Given the description of an element on the screen output the (x, y) to click on. 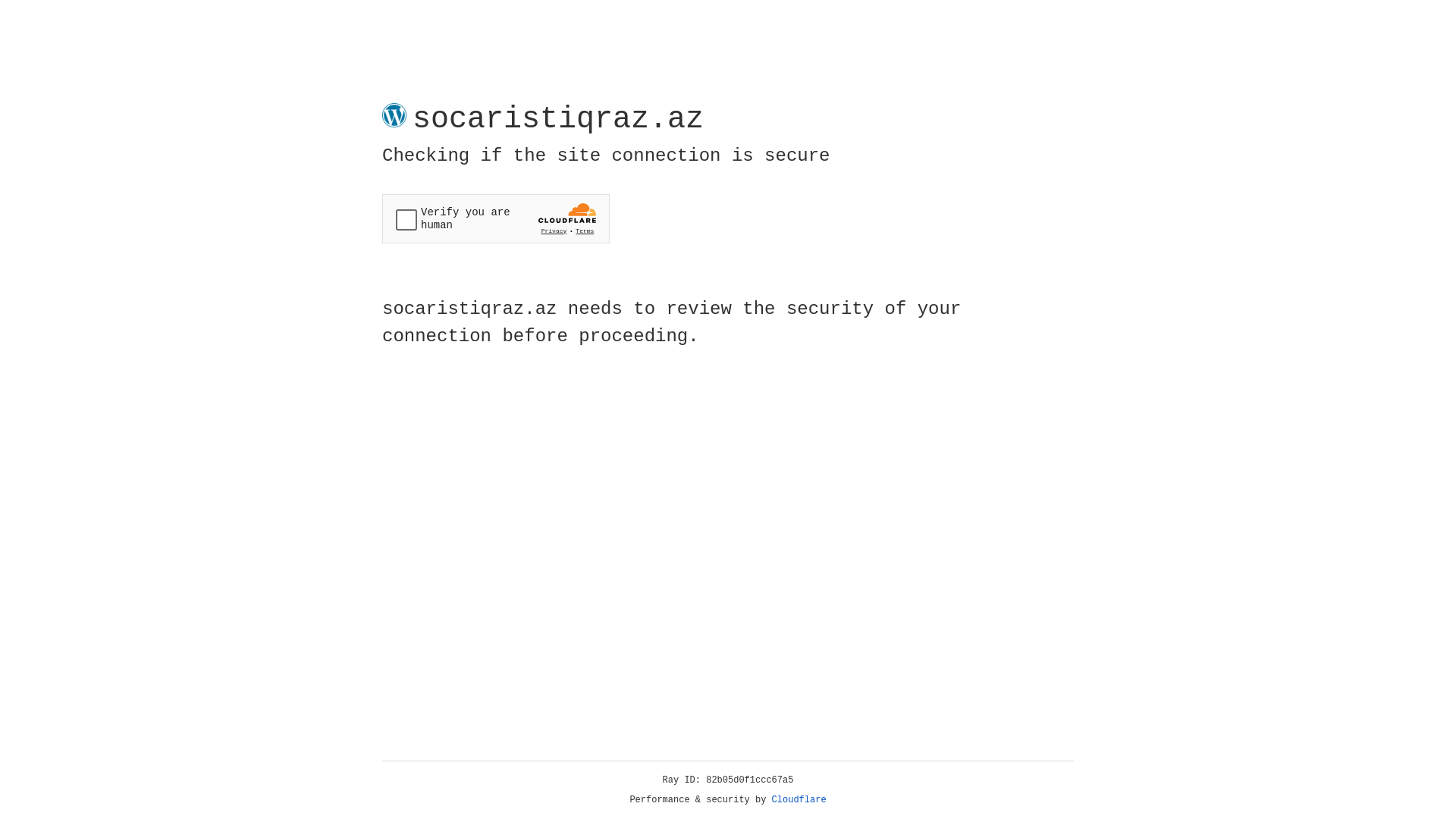
Cloudflare Element type: text (798, 799)
Widget containing a Cloudflare security challenge Element type: hover (495, 218)
